Given the description of an element on the screen output the (x, y) to click on. 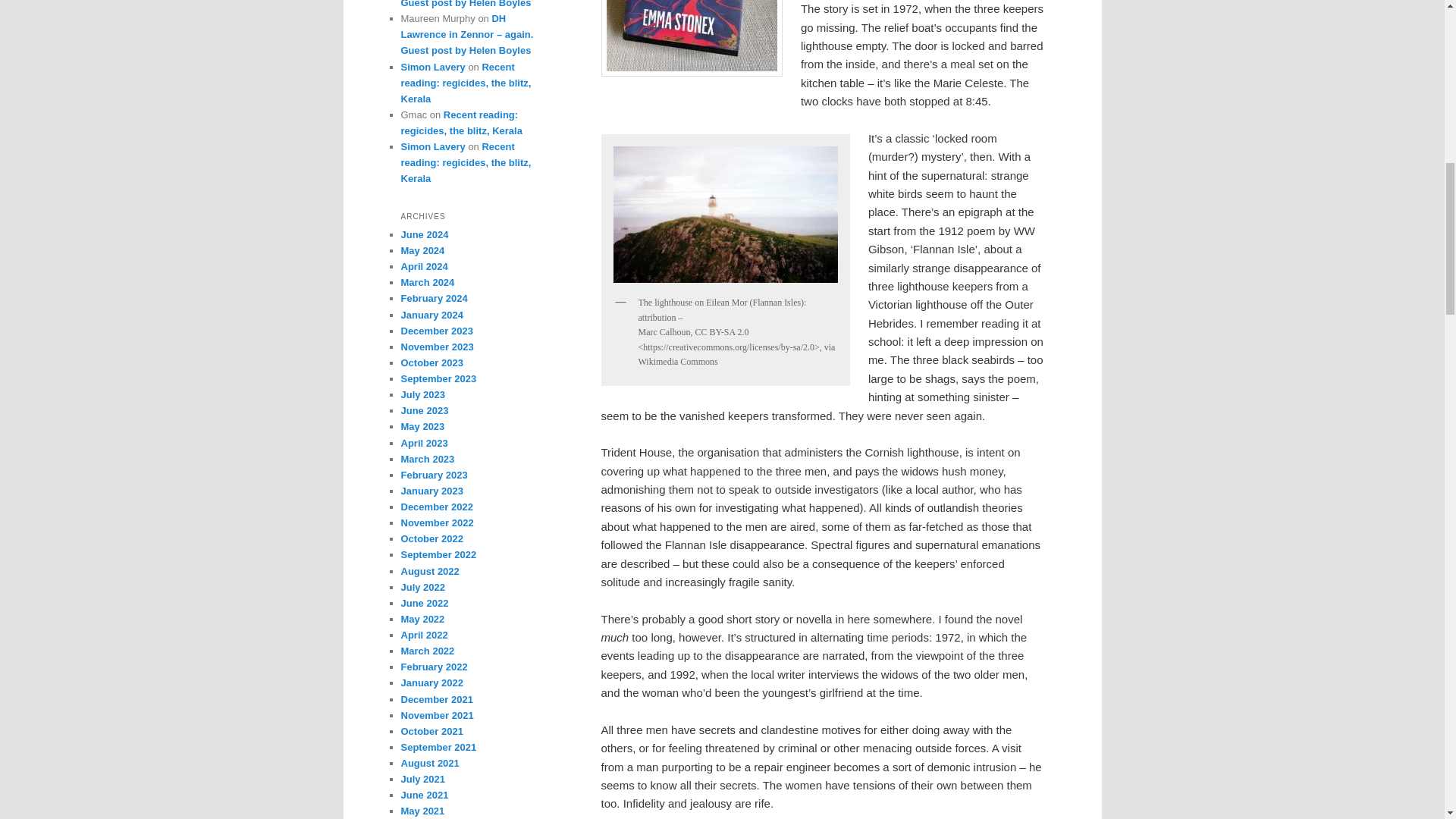
Recent reading: regicides, the blitz, Kerala (460, 122)
Simon Lavery (432, 146)
Recent reading: regicides, the blitz, Kerala (465, 82)
Simon Lavery (432, 66)
